Given the description of an element on the screen output the (x, y) to click on. 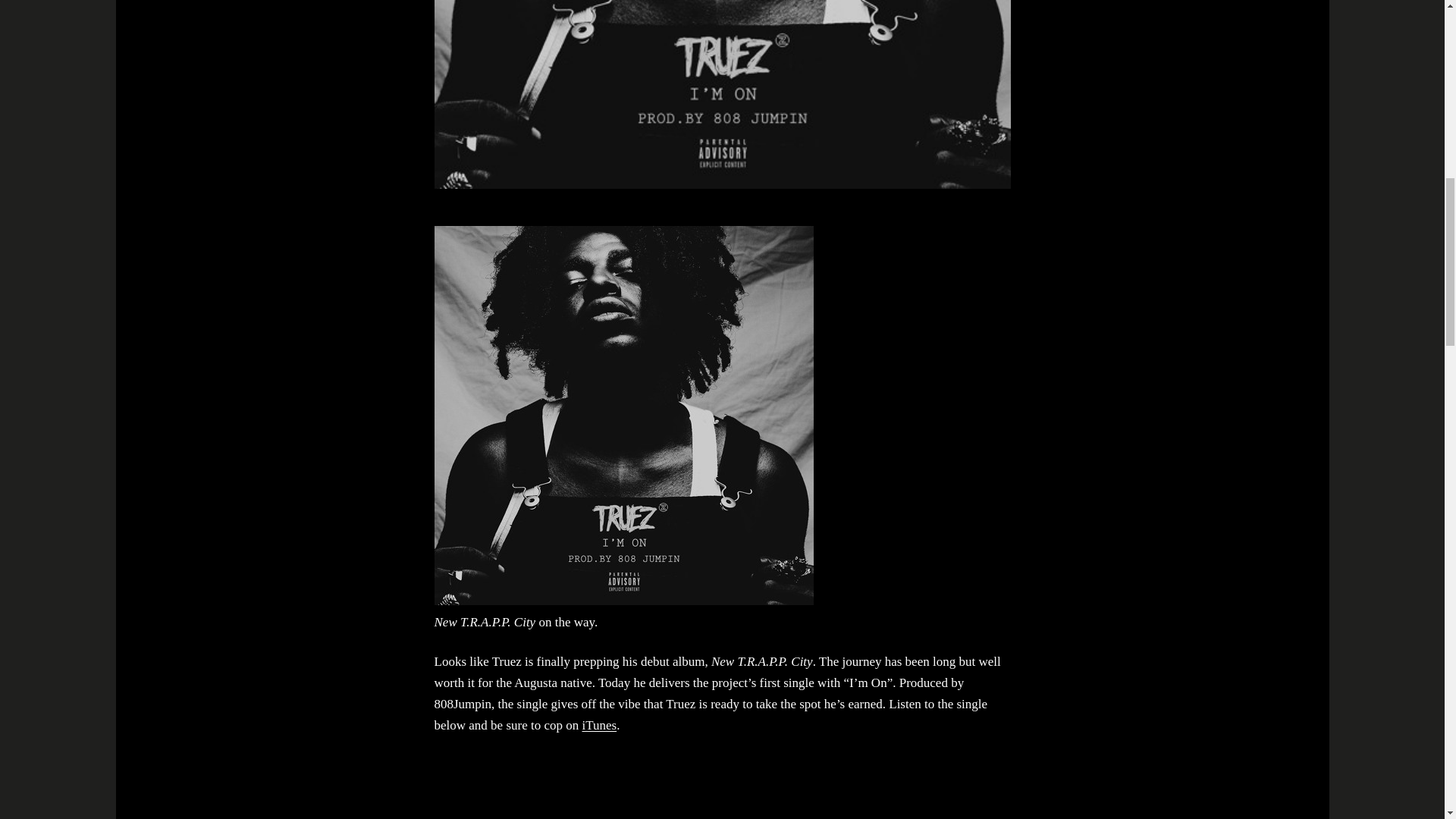
iTunes (597, 725)
